Given the description of an element on the screen output the (x, y) to click on. 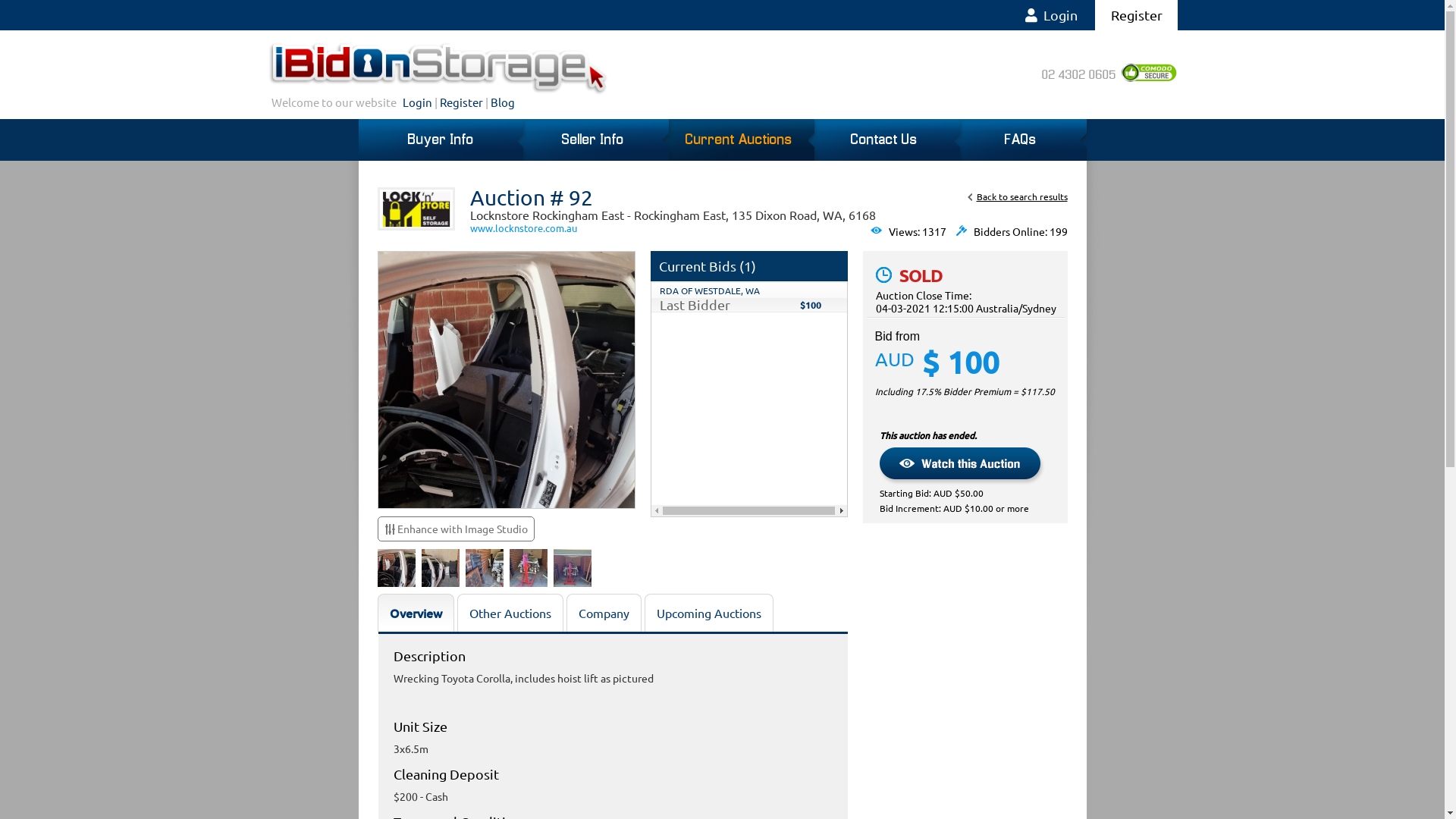
Contact Us Element type: text (882, 139)
Seller Info Element type: text (591, 139)
 Login Element type: text (1051, 15)
Company Element type: text (602, 612)
FAQs Element type: text (1018, 139)
Other Auctions Element type: text (509, 611)
Upcoming Auctions Element type: text (708, 612)
Overview Element type: text (415, 612)
Overview Element type: text (415, 611)
Other Auctions Element type: text (509, 612)
Blog Element type: text (501, 101)
Upcoming Auctions Element type: text (708, 611)
Register Element type: text (1135, 15)
Login Element type: text (416, 101)
0 Element type: text (23, 18)
www.locknstore.com.au Element type: text (523, 227)
Buyer Info Element type: text (441, 139)
Current Auctions Element type: text (737, 139)
Back to search results Element type: text (1019, 196)
1842 -  Element type: hover (415, 208)
Register Element type: text (461, 101)
Company Element type: text (602, 611)
